Given the description of an element on the screen output the (x, y) to click on. 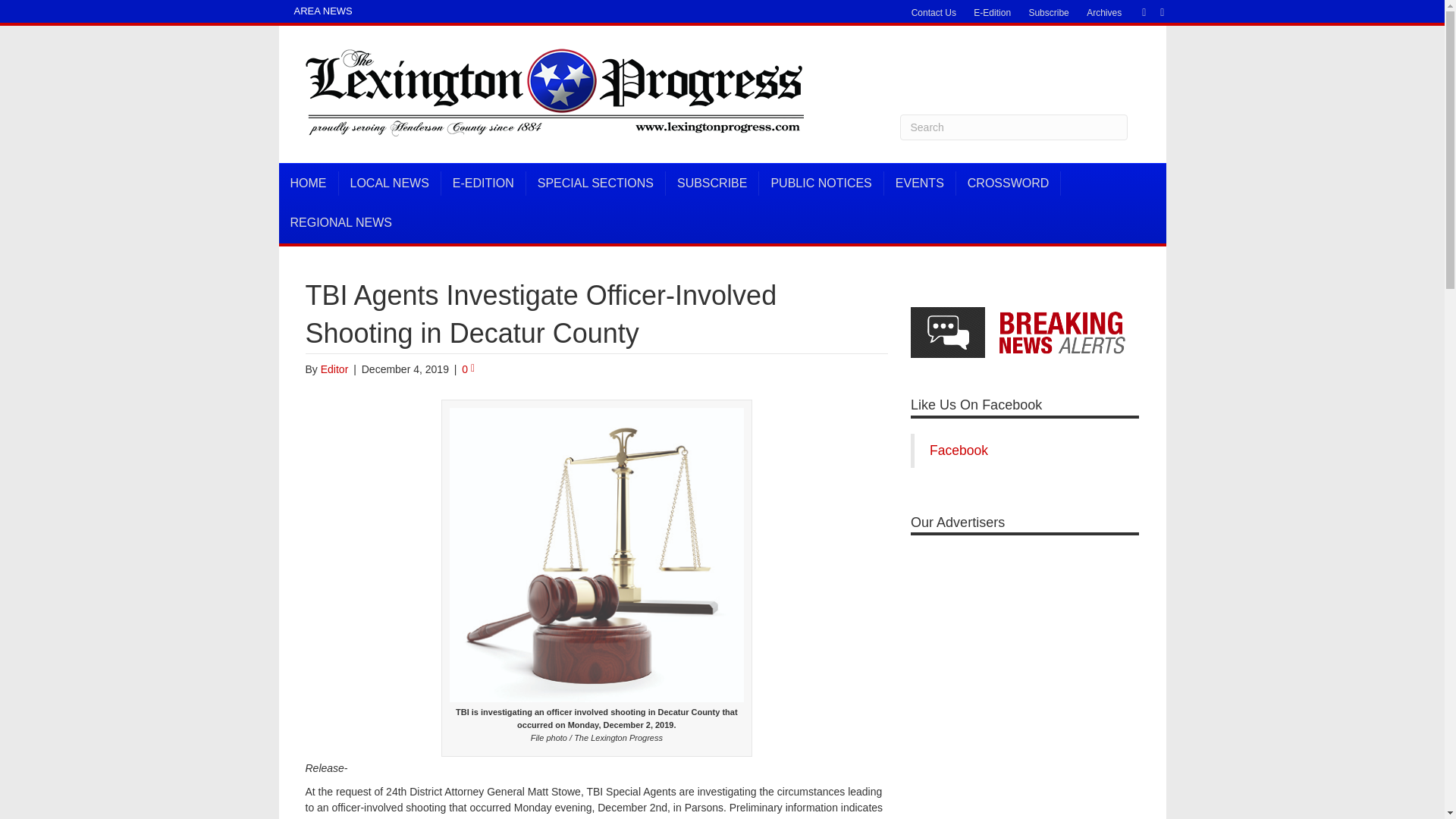
HOME (309, 183)
E-EDITION (483, 183)
Facebook (1135, 11)
EVENTS (919, 183)
LOCAL NEWS (389, 183)
SPECIAL SECTIONS (595, 183)
SUBSCRIBE (711, 183)
CROSSWORD (1008, 183)
Subscribe (1047, 13)
Type and press Enter to search. (1012, 127)
Editor (334, 369)
PUBLIC NOTICES (820, 183)
E-Edition (991, 13)
Archives (1103, 13)
0 (467, 369)
